Given the description of an element on the screen output the (x, y) to click on. 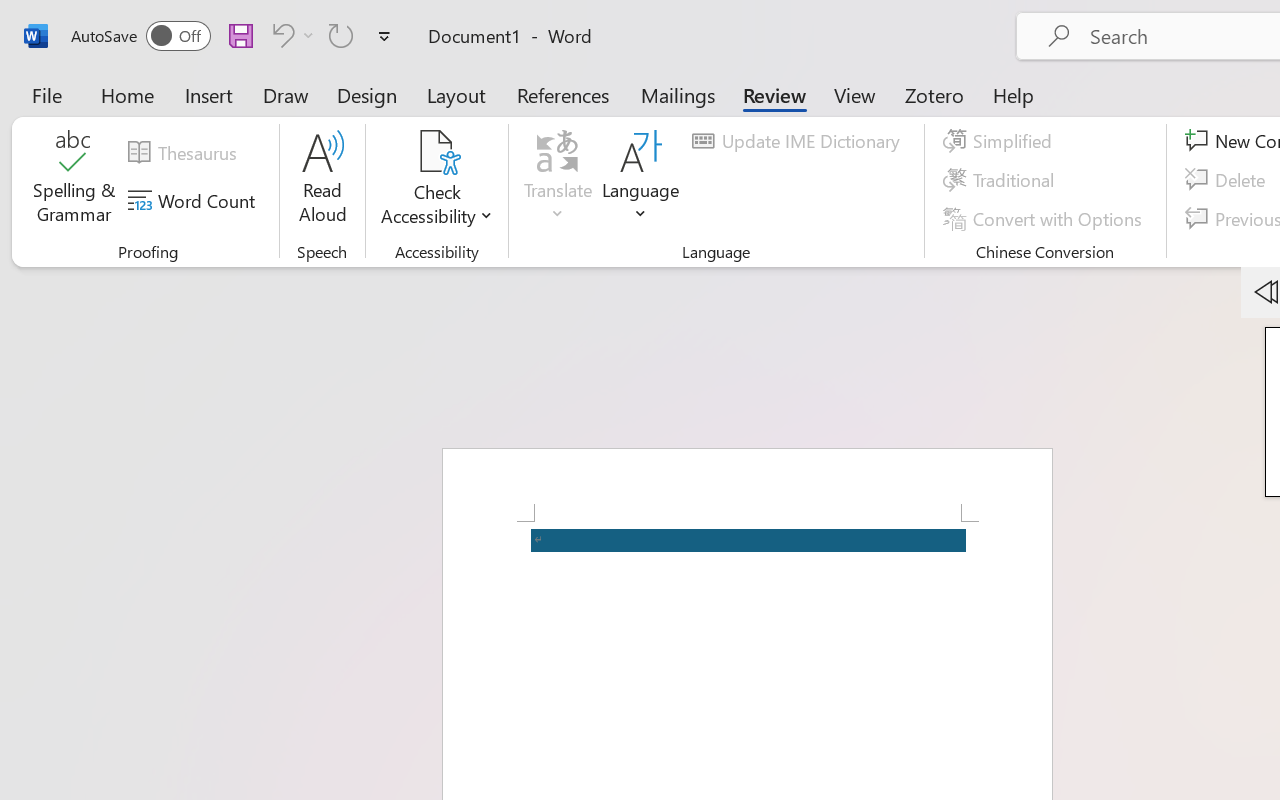
Spelling & Grammar (74, 180)
Language (641, 179)
